Given the description of an element on the screen output the (x, y) to click on. 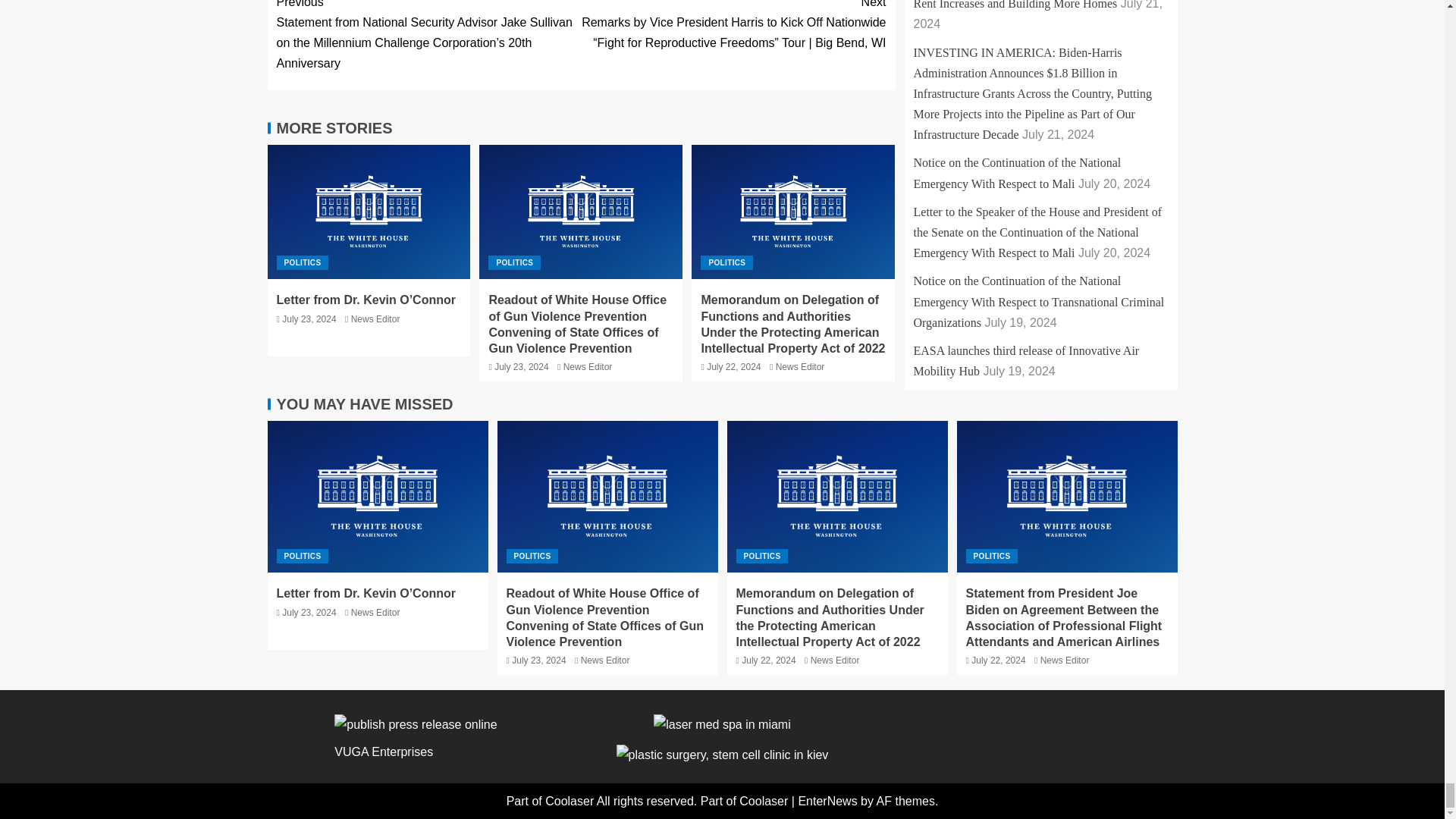
News Editor (587, 366)
POLITICS (726, 262)
POLITICS (513, 262)
News Editor (800, 366)
News Editor (375, 318)
POLITICS (302, 262)
